Given the description of an element on the screen output the (x, y) to click on. 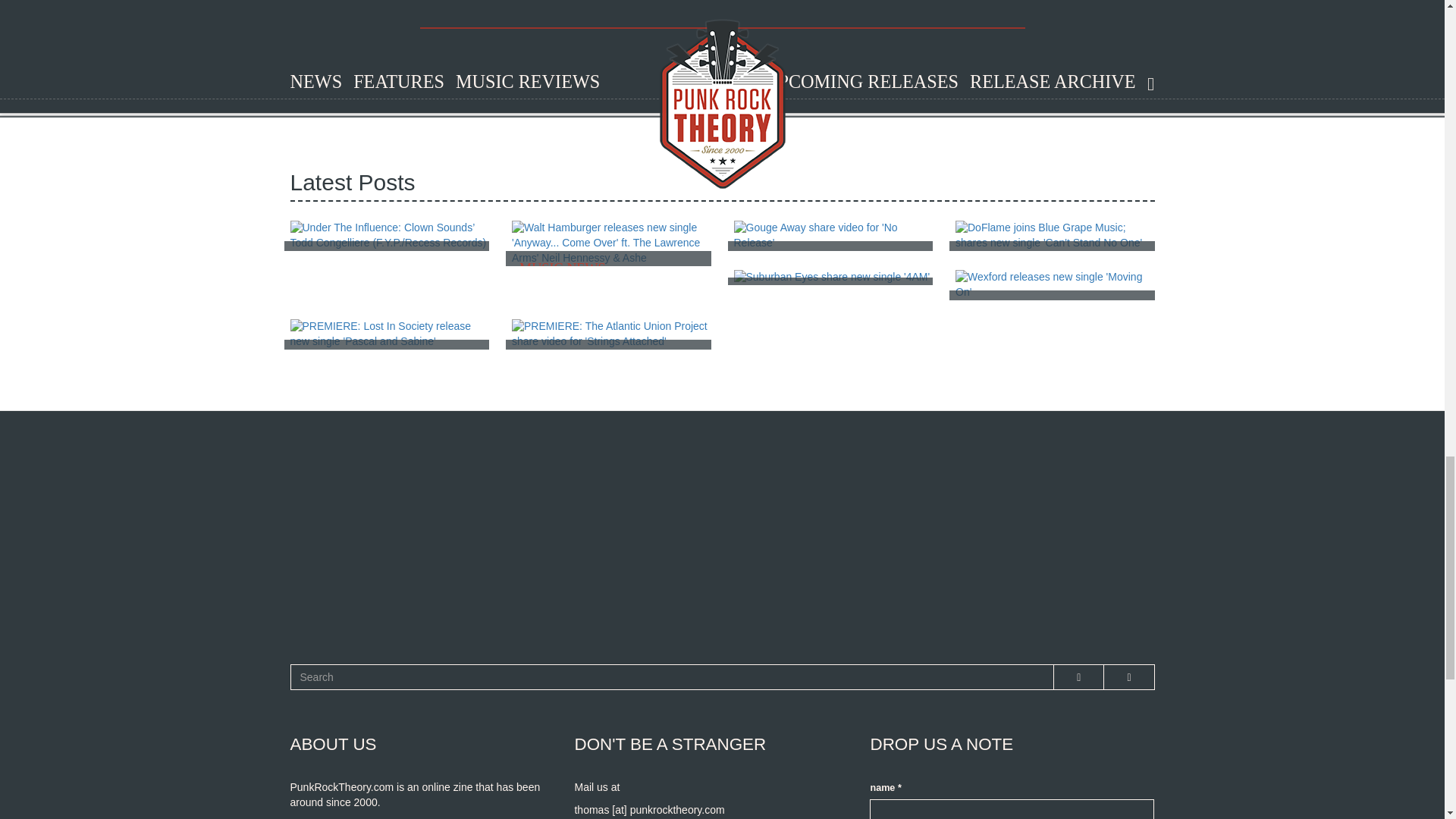
INTERVIEW (389, 235)
MUSIC NEWS (389, 334)
MUSIC NEWS (1054, 285)
MUSIC NEWS (833, 235)
MUSIC NEWS (611, 334)
SEARCH (312, 690)
MUSIC NEWS (833, 277)
MUSIC NEWS (611, 243)
Enter the terms you wish to search for. (671, 677)
MUSIC NEWS (1054, 235)
